Given the description of an element on the screen output the (x, y) to click on. 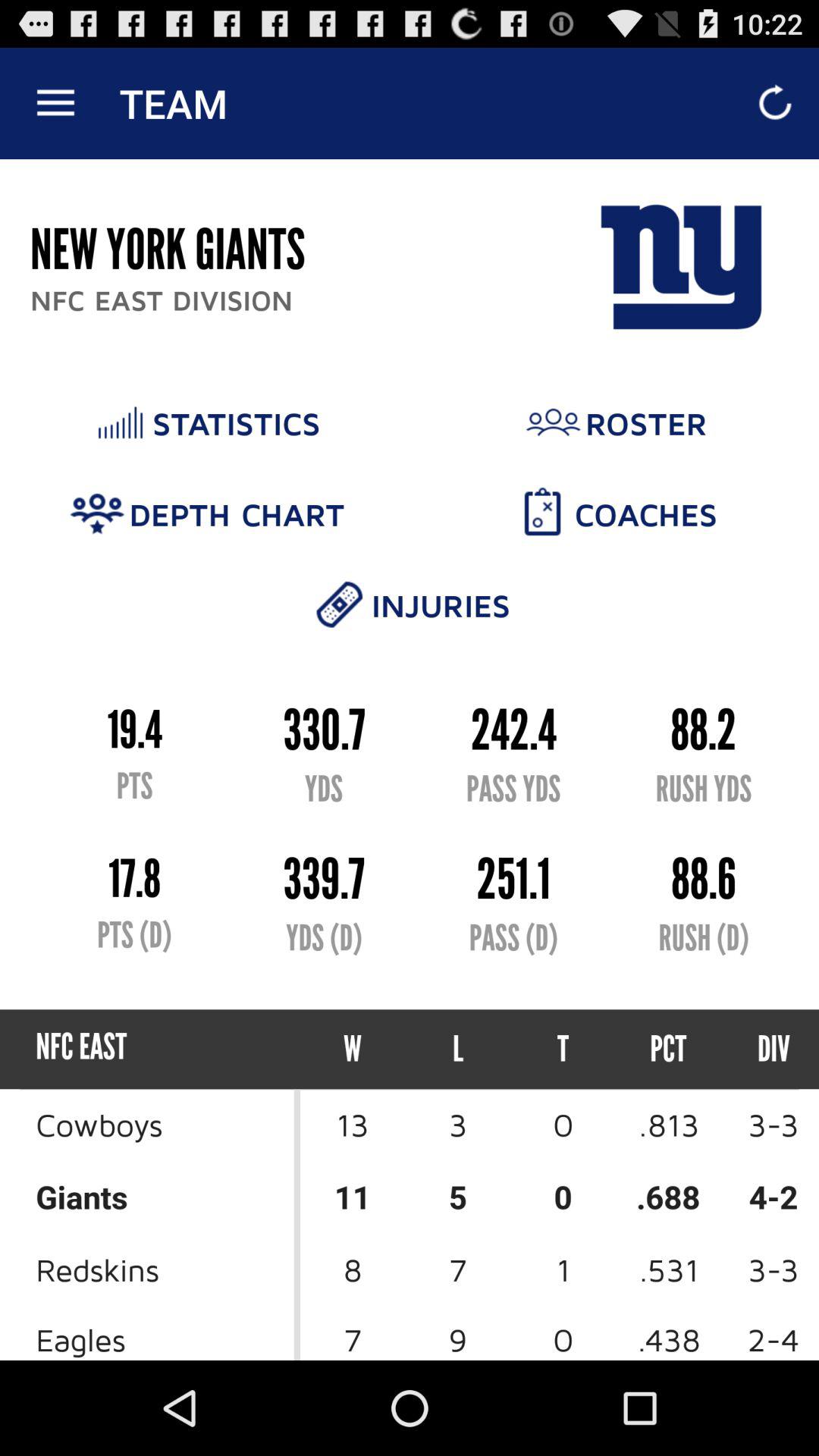
select l icon (457, 1049)
